Given the description of an element on the screen output the (x, y) to click on. 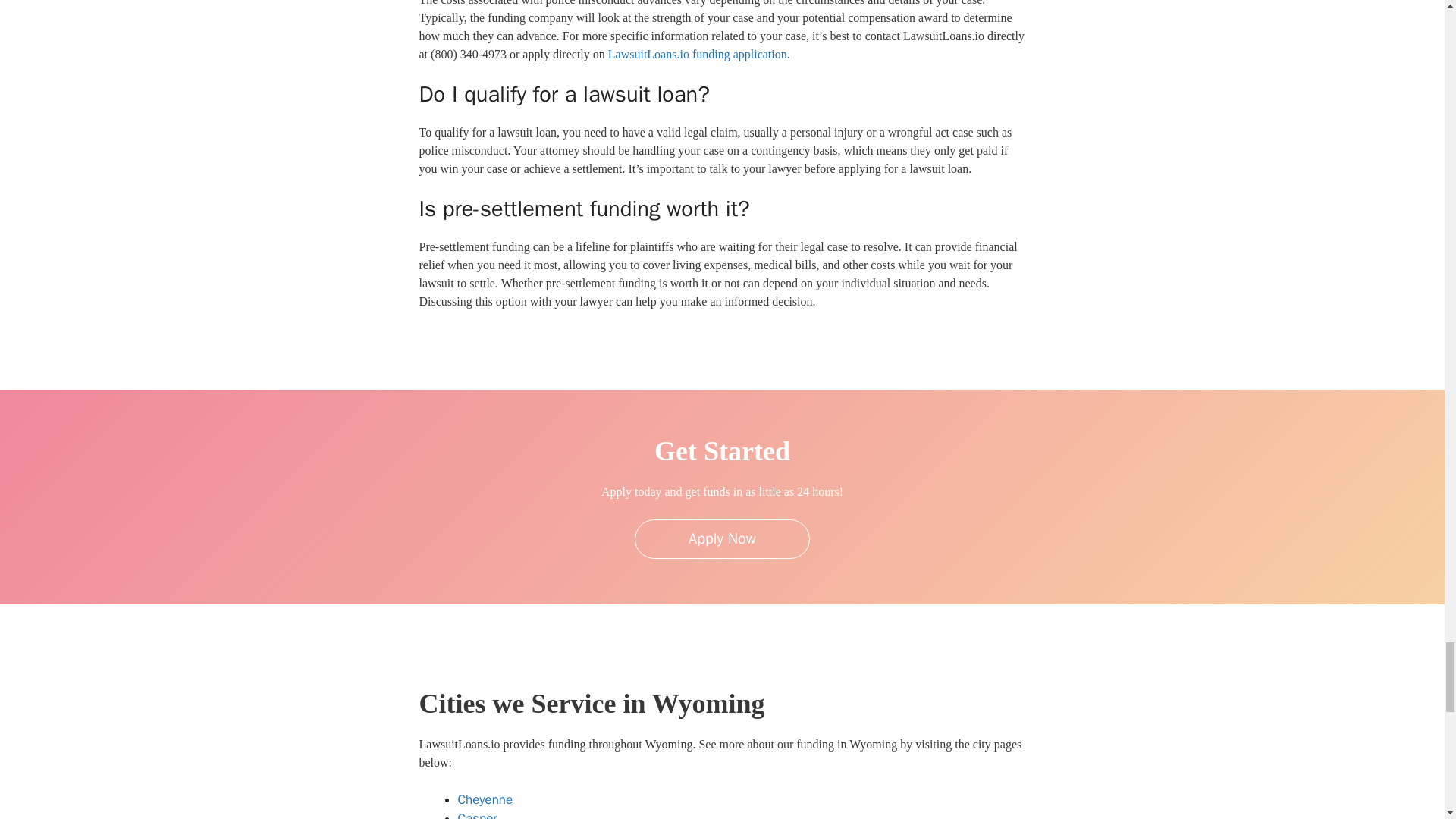
LawsuitLoans.io funding application (697, 53)
Cheyenne (485, 799)
Apply Now (721, 538)
Casper (477, 814)
